Given the description of an element on the screen output the (x, y) to click on. 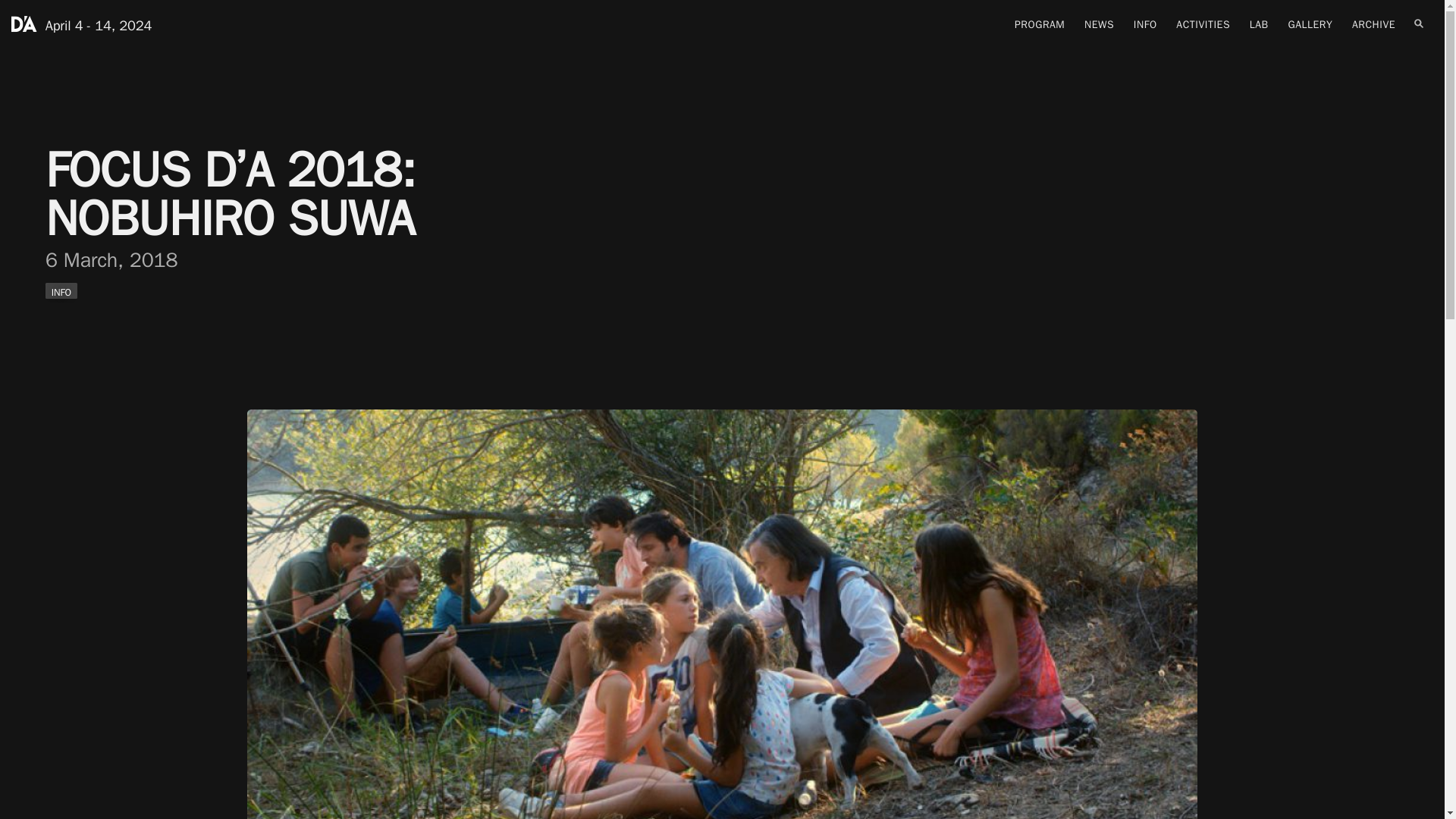
ACTIVITIES (1203, 24)
ARCHIVE (1373, 24)
NEWS (1099, 24)
INFO (1145, 24)
INFO (61, 290)
GALLERY (1309, 24)
D'A (24, 23)
Program (1040, 24)
LAB (1259, 24)
PROGRAM (1040, 24)
